Given the description of an element on the screen output the (x, y) to click on. 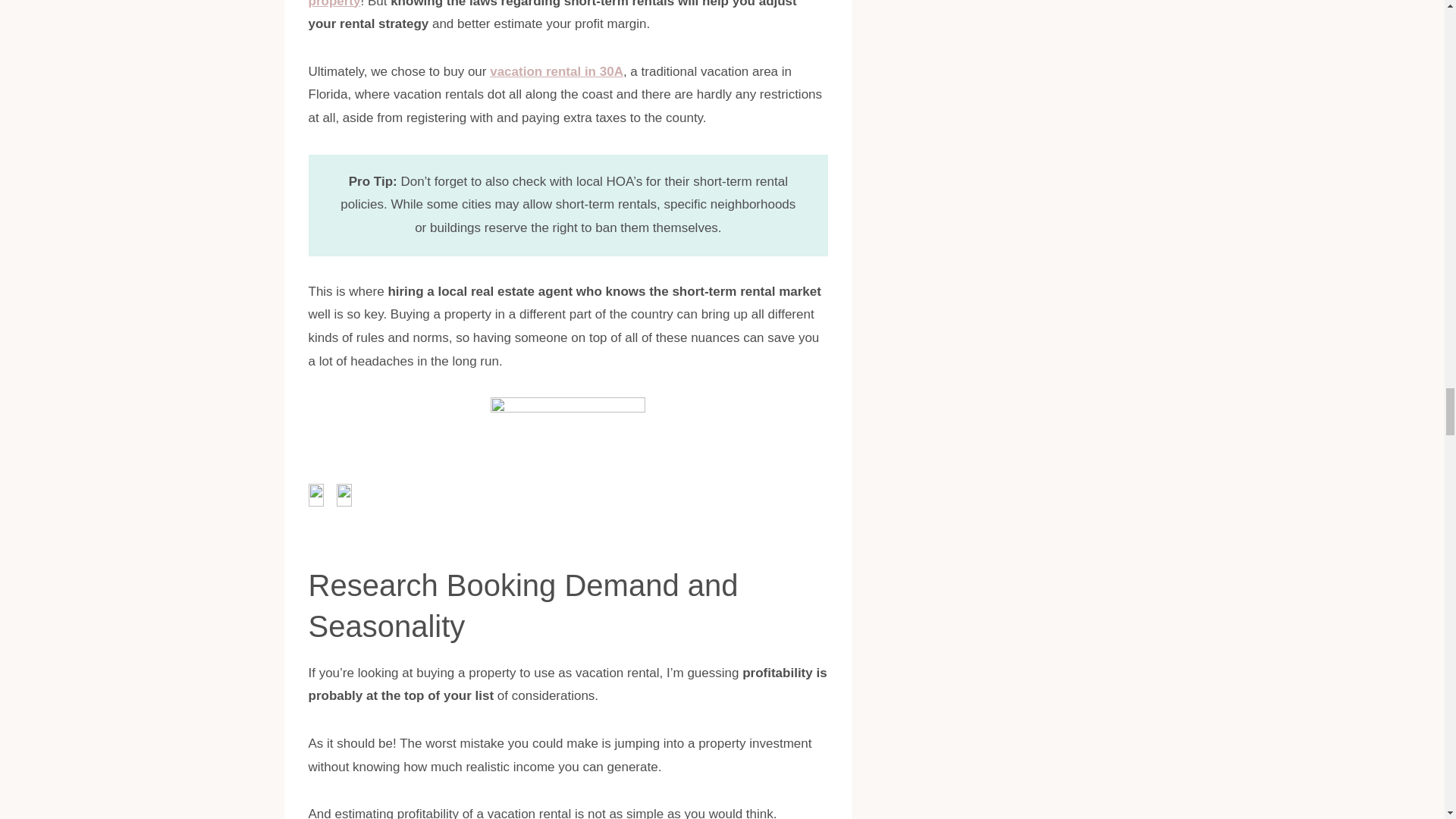
vacation rental in 30A (556, 71)
great place to own a vacation rental property (539, 4)
